Given the description of an element on the screen output the (x, y) to click on. 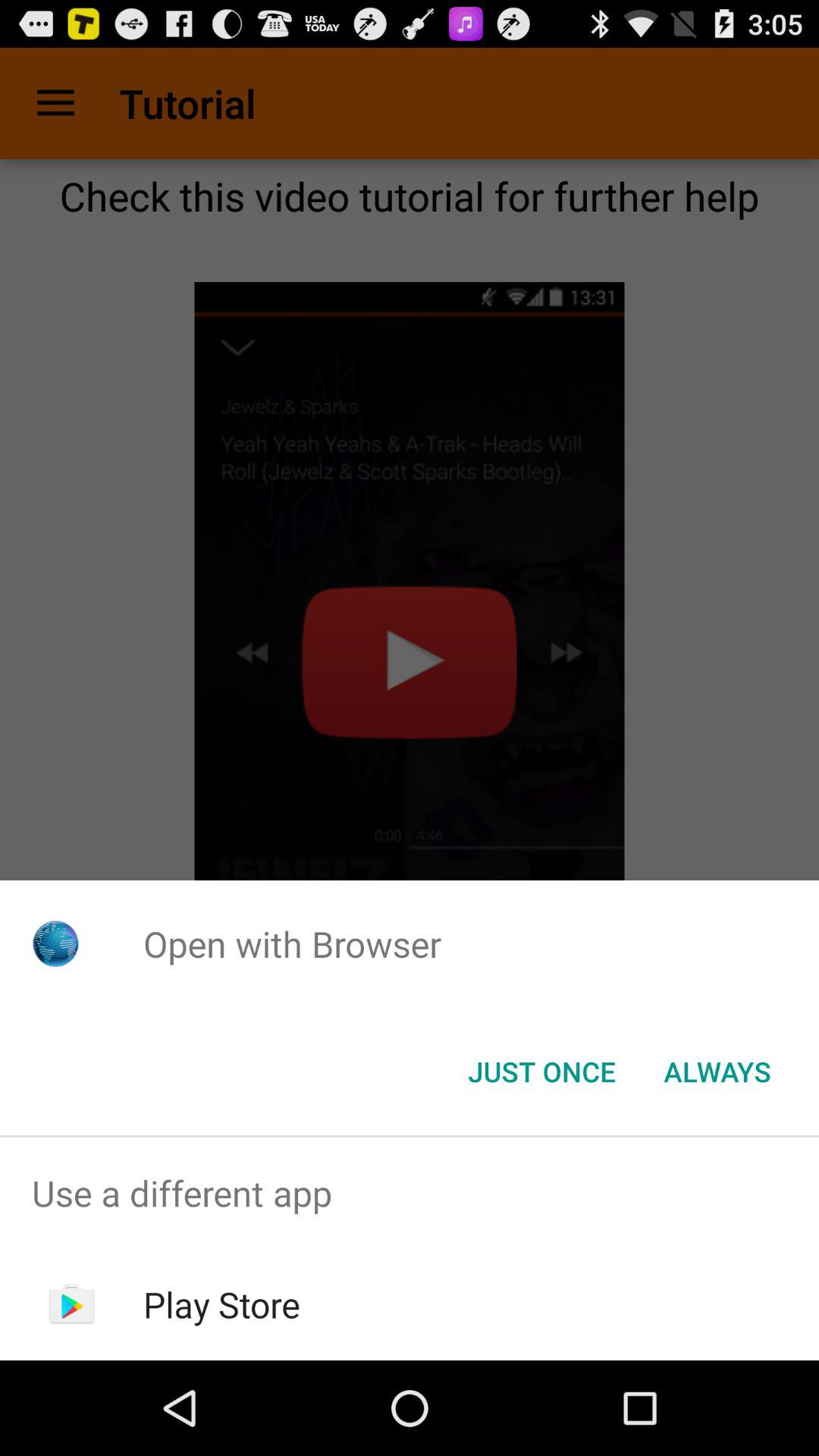
jump until use a different icon (409, 1192)
